Given the description of an element on the screen output the (x, y) to click on. 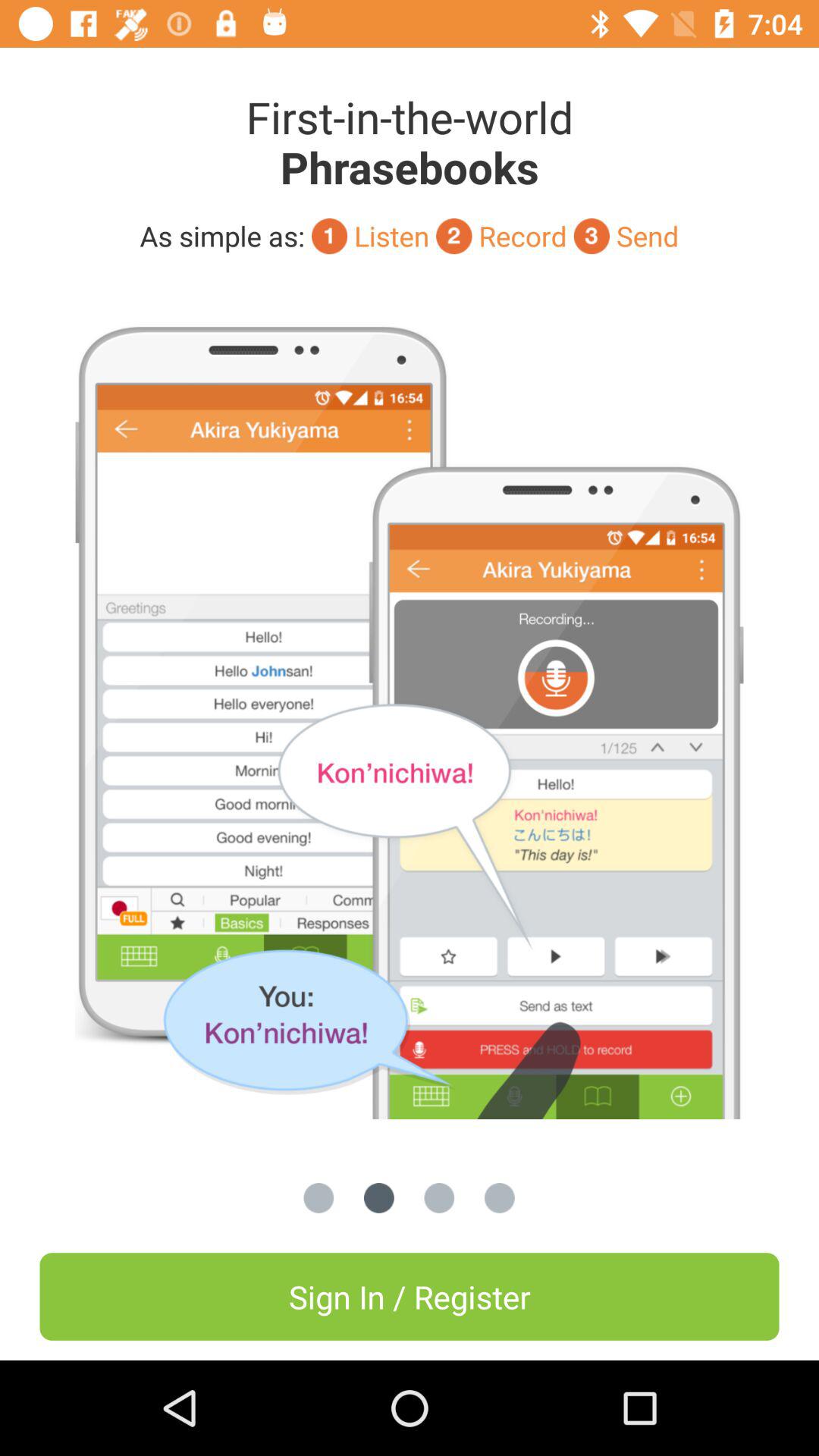
scroll to the sign in / register icon (409, 1296)
